Given the description of an element on the screen output the (x, y) to click on. 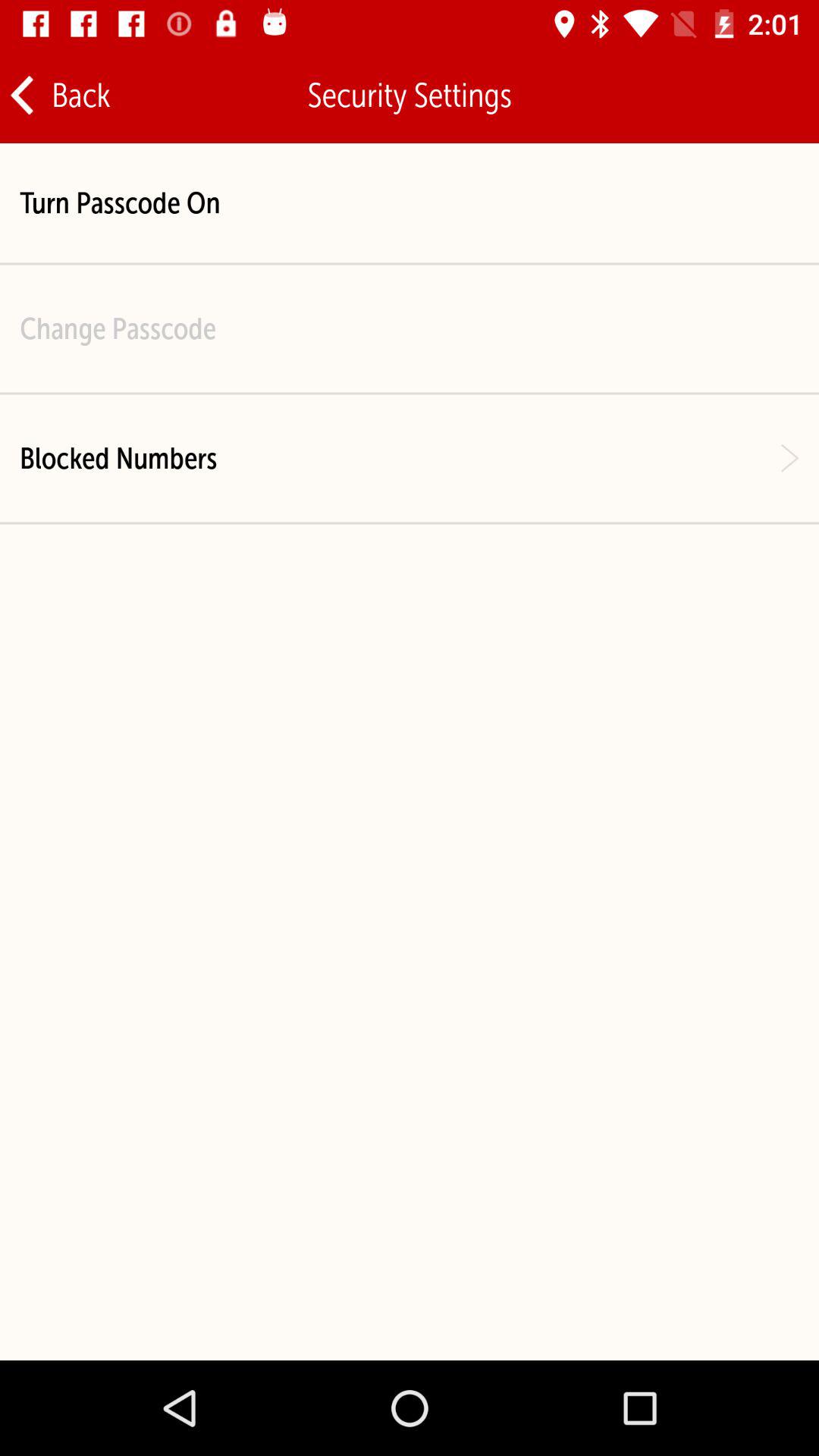
launch the item above the blocked numbers (117, 328)
